Given the description of an element on the screen output the (x, y) to click on. 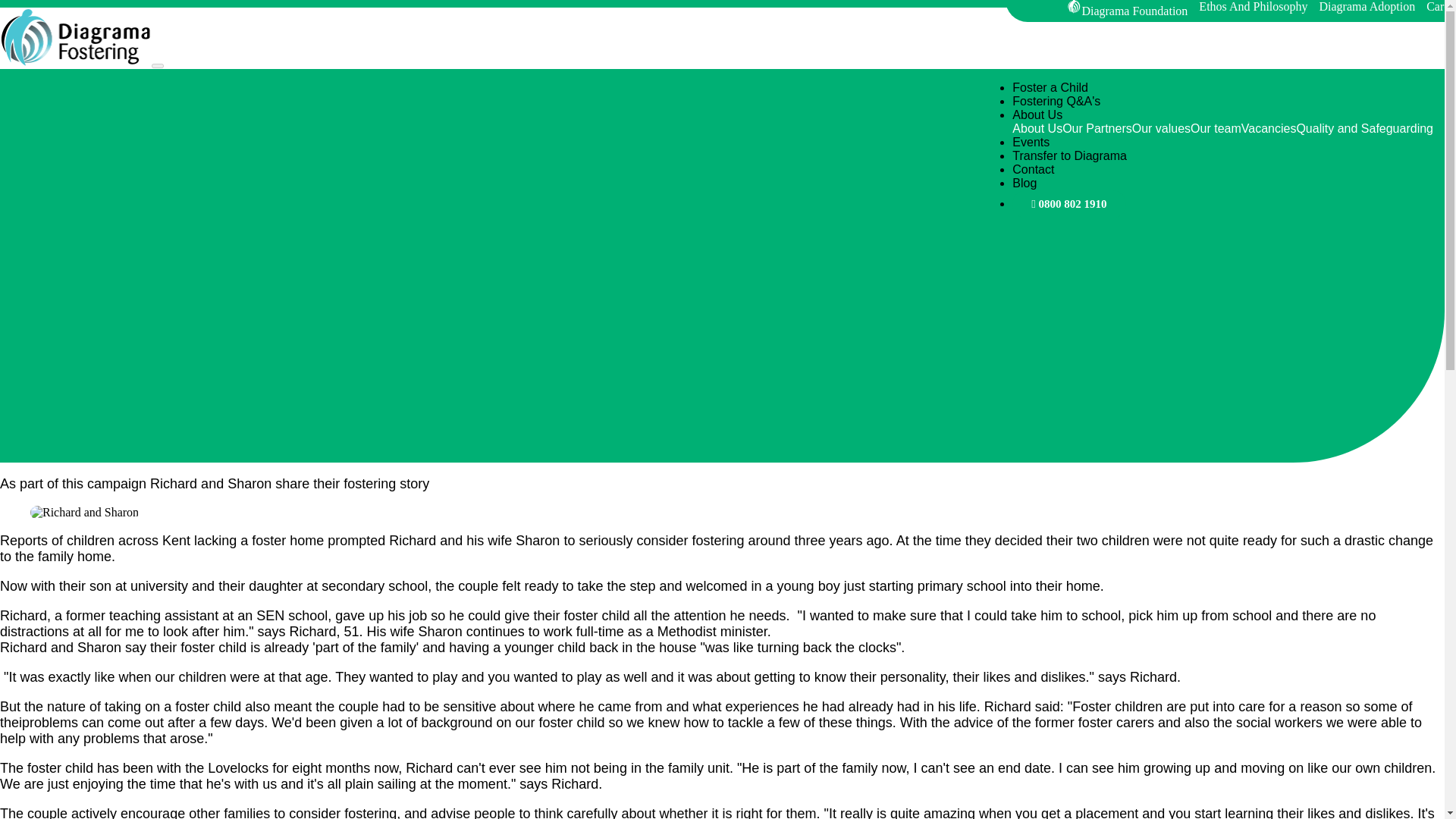
Contact (1032, 169)
Foster a Child (1049, 87)
Our values (1161, 128)
Our Partners (1097, 128)
Diagrama Foundation (1128, 9)
About Us (1036, 114)
Quality and Safeguarding (1363, 128)
Diagrama Adoption (1369, 6)
Our team (1216, 128)
About Us (1036, 128)
